Given the description of an element on the screen output the (x, y) to click on. 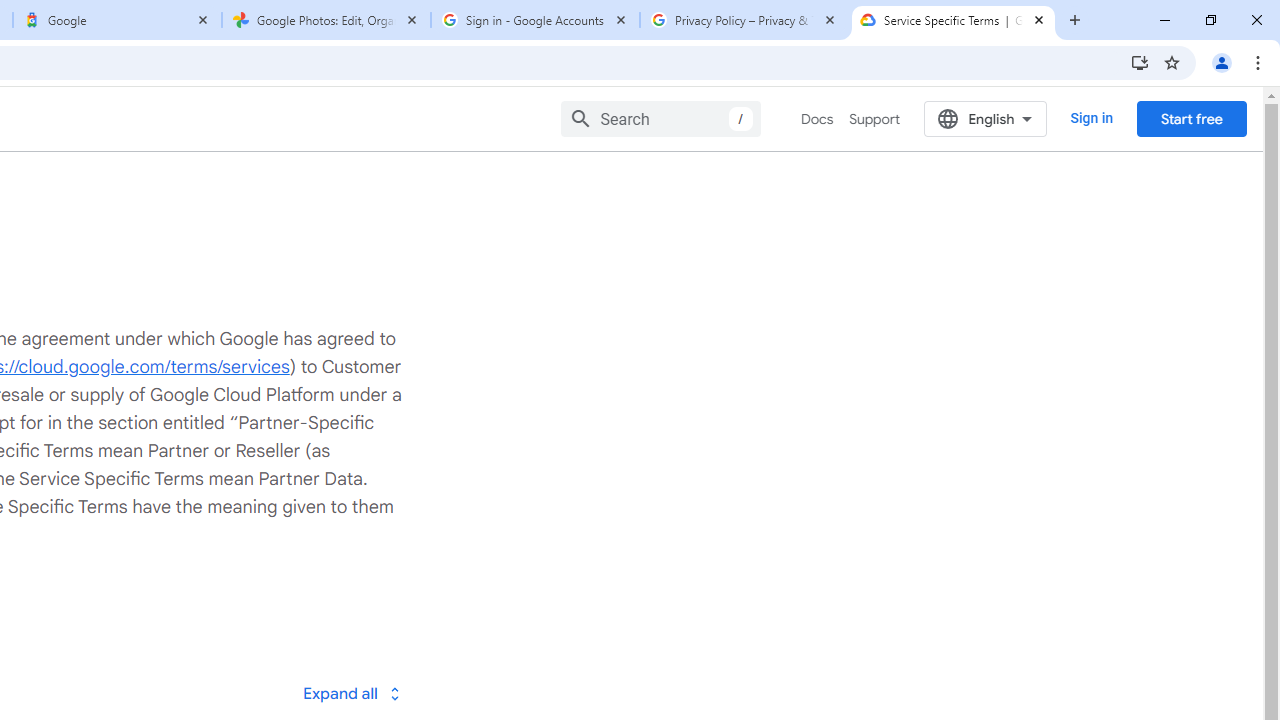
Install Google Cloud (1139, 62)
Toggle all (351, 692)
Start free (1191, 118)
Docs (817, 119)
